Given the description of an element on the screen output the (x, y) to click on. 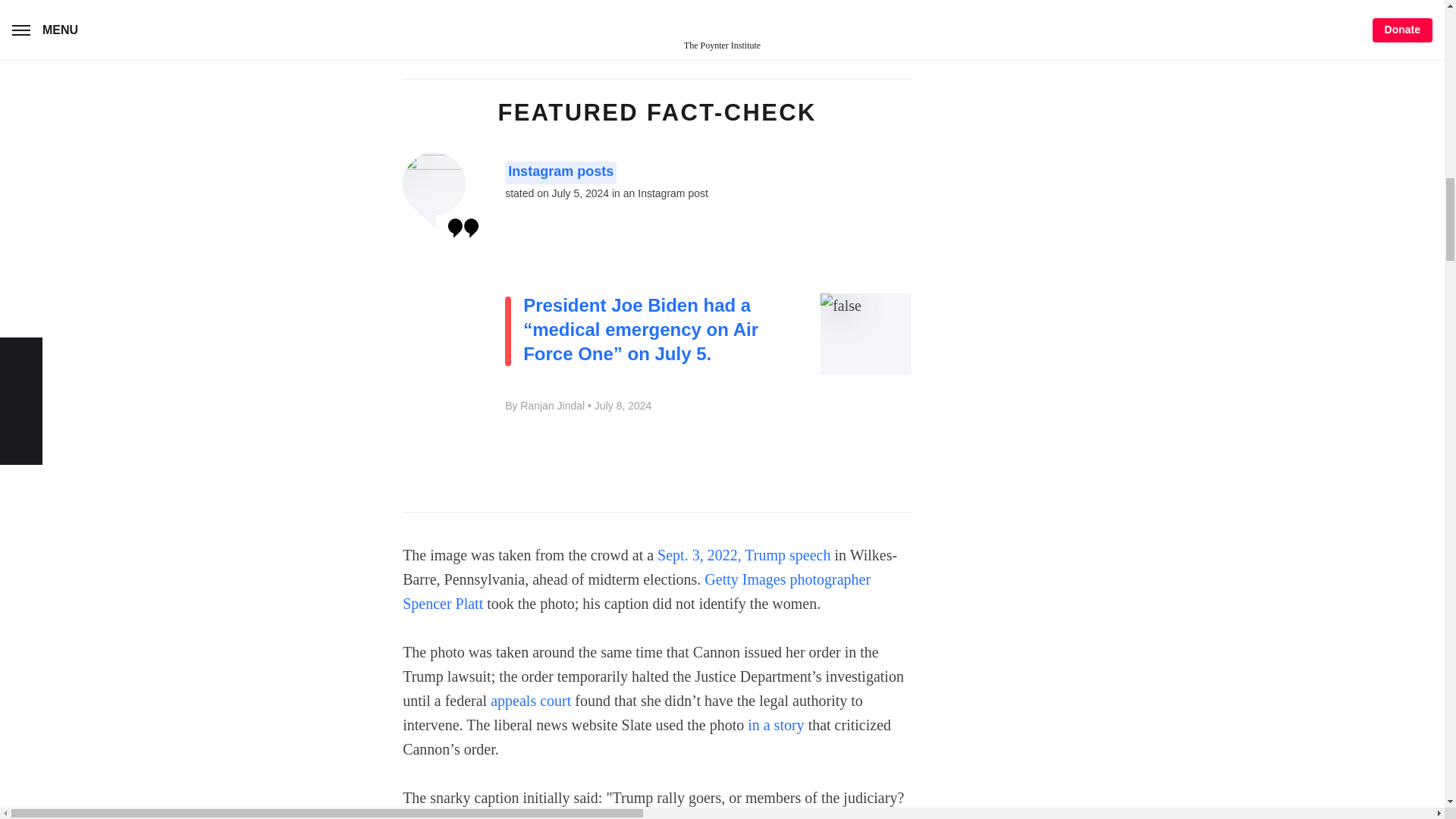
Instagram posts (560, 172)
